Given the description of an element on the screen output the (x, y) to click on. 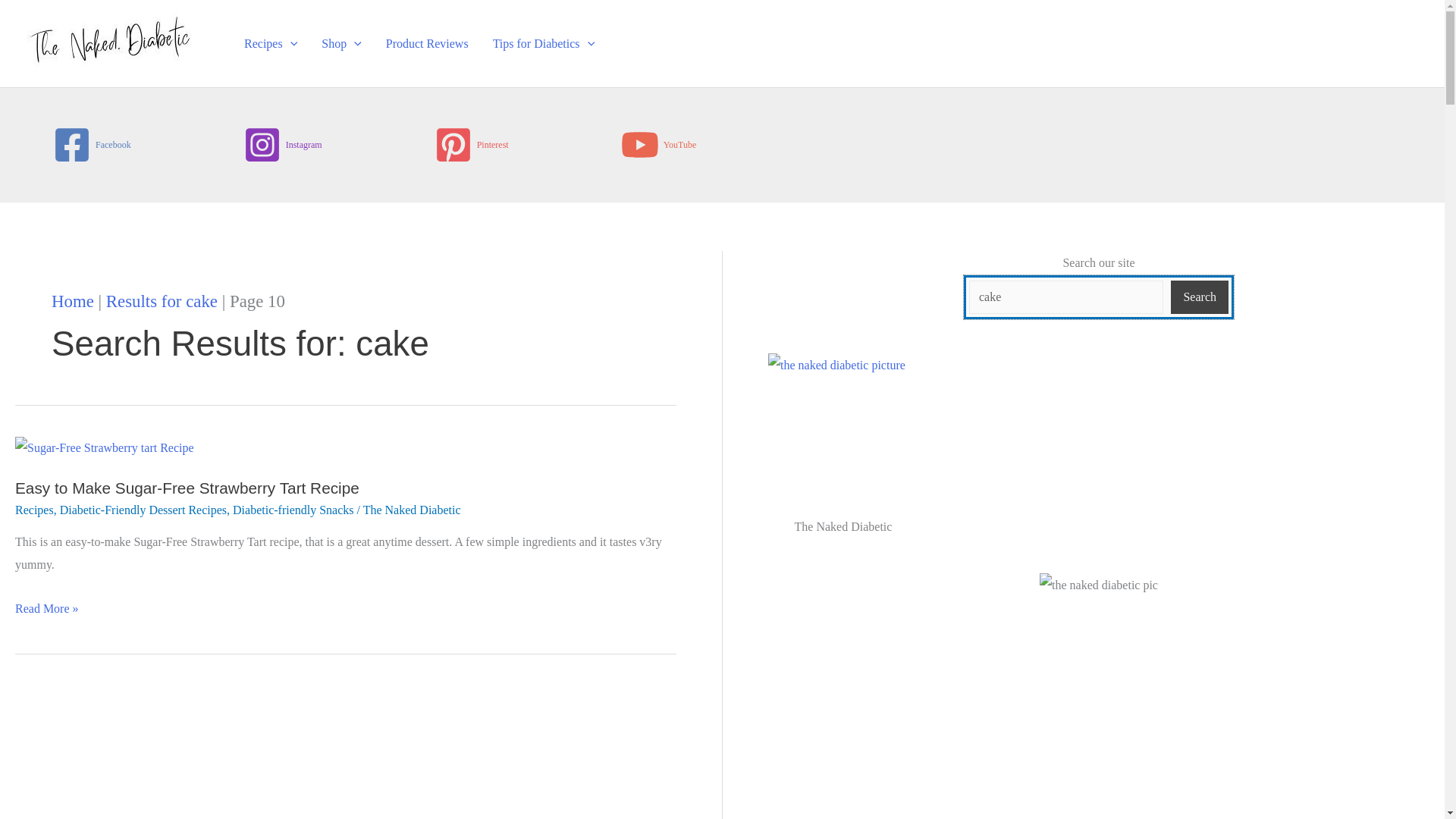
Recipes (269, 42)
Welcome to The Naked Diabetic (843, 428)
Product Reviews (427, 42)
Pinterest (471, 144)
Instagram (282, 144)
cake (1066, 296)
Shop (341, 42)
Tips for Diabetics (543, 42)
cake (1066, 296)
View all posts by The Naked Diabetic (411, 509)
Facebook (91, 144)
YouTube (659, 144)
